Given the description of an element on the screen output the (x, y) to click on. 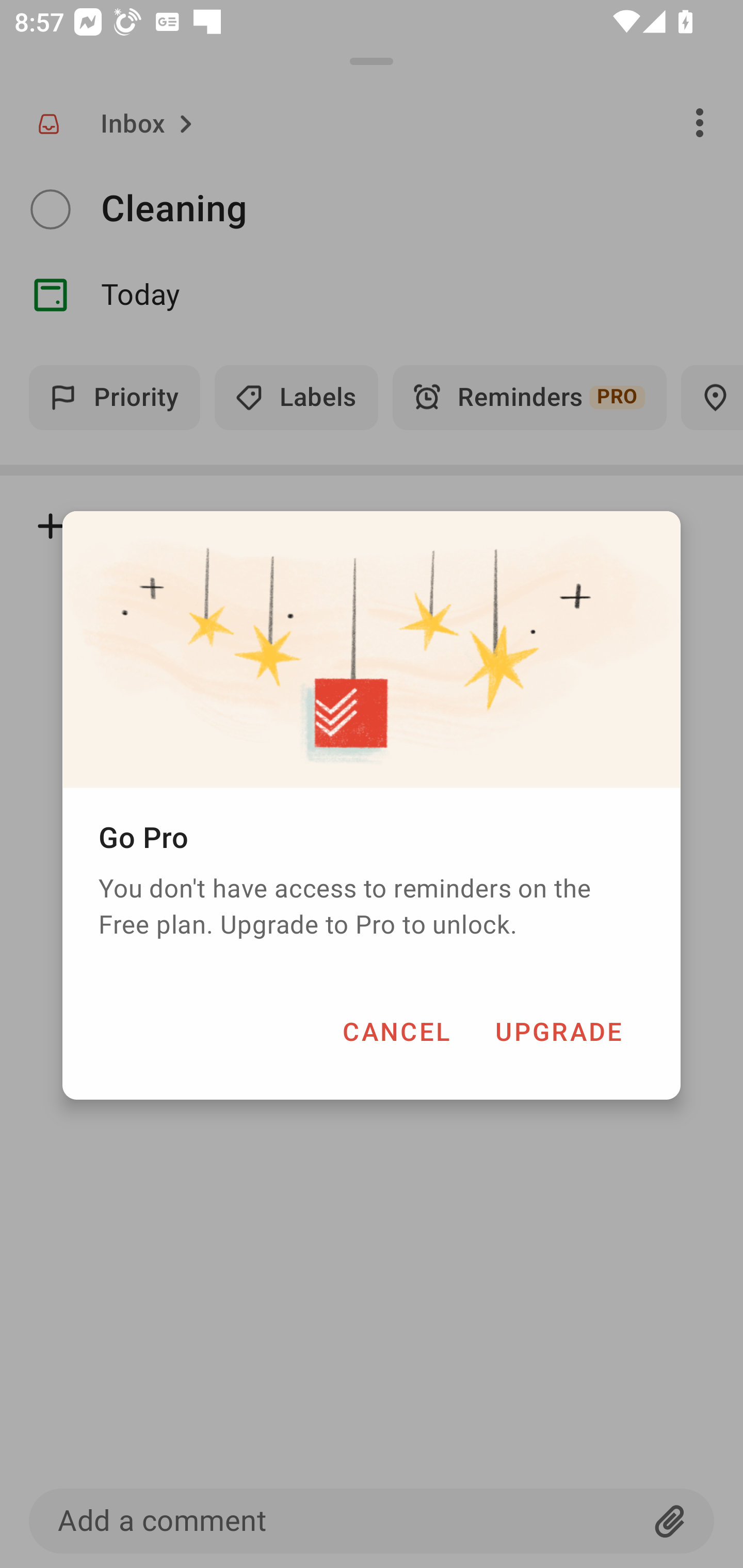
CANCEL (395, 1030)
UPGRADE (558, 1030)
